Given the description of an element on the screen output the (x, y) to click on. 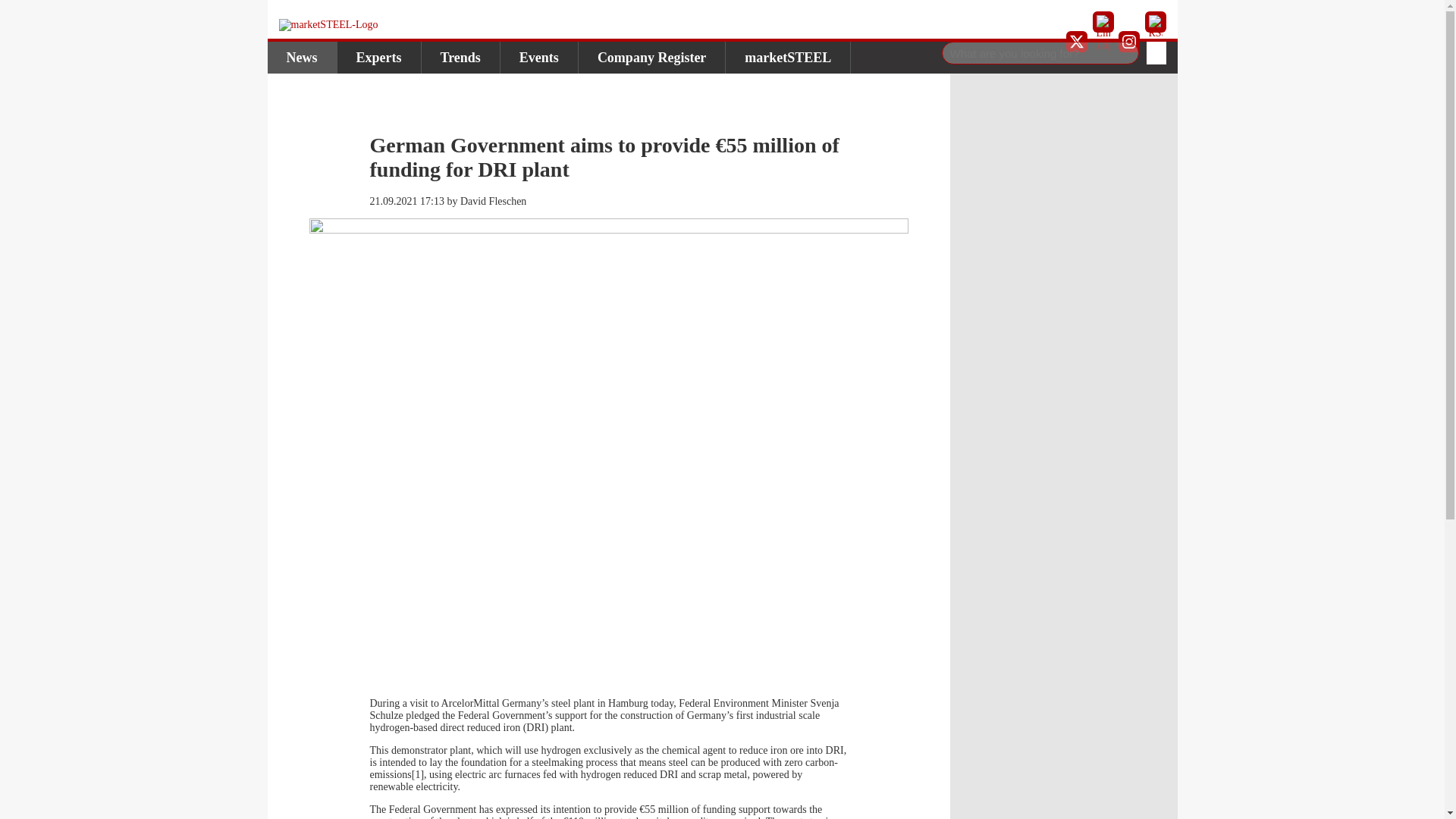
marketSTEEL (787, 57)
marketSTEEL (787, 57)
News (301, 57)
Events (539, 57)
Events (539, 57)
Experts (378, 57)
Trends (461, 57)
Company Register (651, 57)
Trends (461, 57)
News (301, 57)
Experts (378, 57)
Company Register (651, 57)
